Given the description of an element on the screen output the (x, y) to click on. 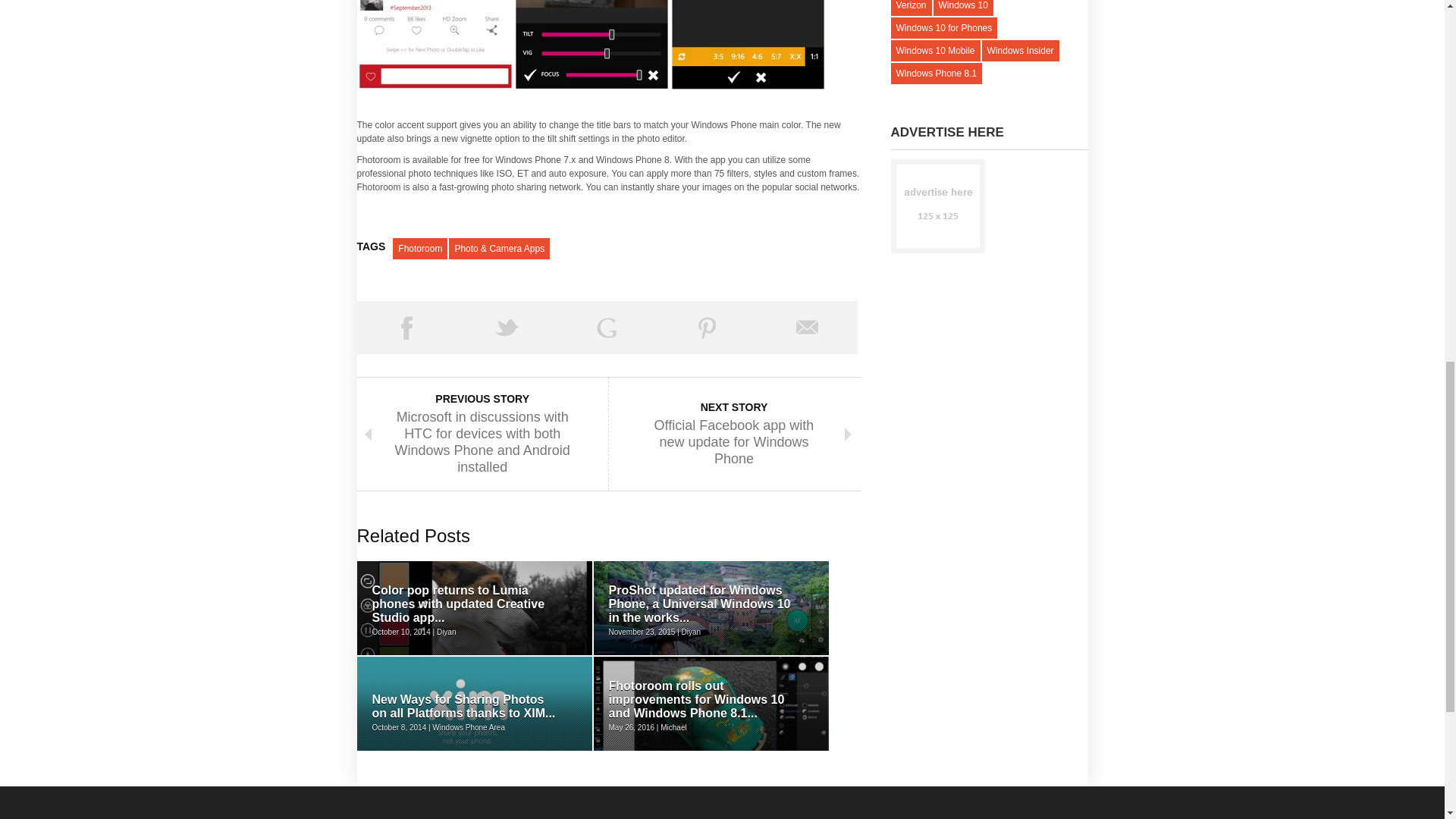
Fhotoroom (419, 248)
Email This (807, 327)
Tweet This (507, 327)
Pin This (707, 327)
Share on Google Plus (607, 327)
Share on Facebook (406, 327)
